Given the description of an element on the screen output the (x, y) to click on. 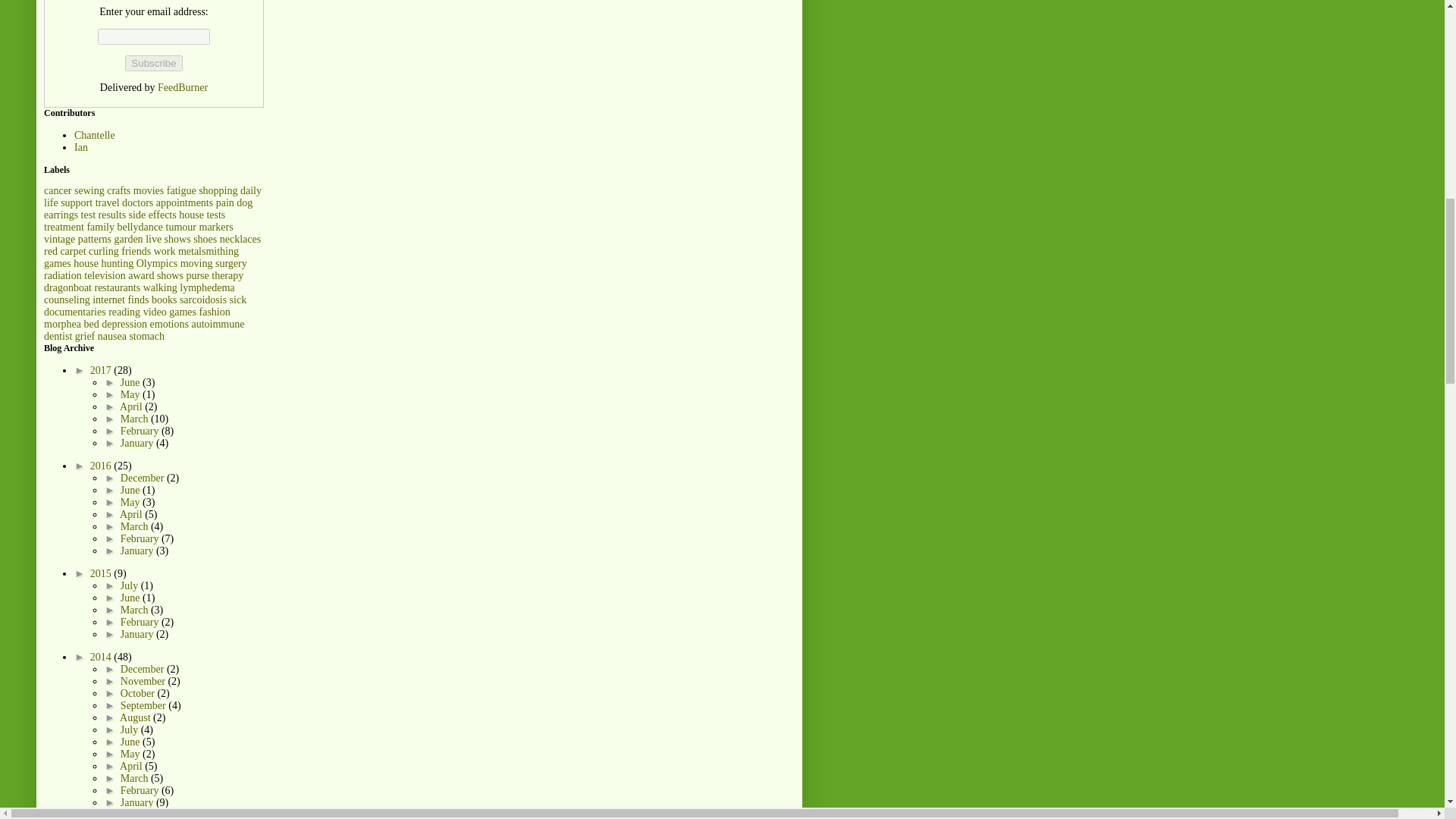
dog (243, 202)
cancer (57, 190)
house (191, 214)
FeedBurner (182, 87)
daily life (152, 196)
support (77, 202)
sewing (89, 190)
test results (103, 214)
Subscribe (153, 63)
fatigue (181, 190)
earrings (60, 214)
Subscribe (153, 63)
tests (215, 214)
side effects (152, 214)
crafts (118, 190)
